Given the description of an element on the screen output the (x, y) to click on. 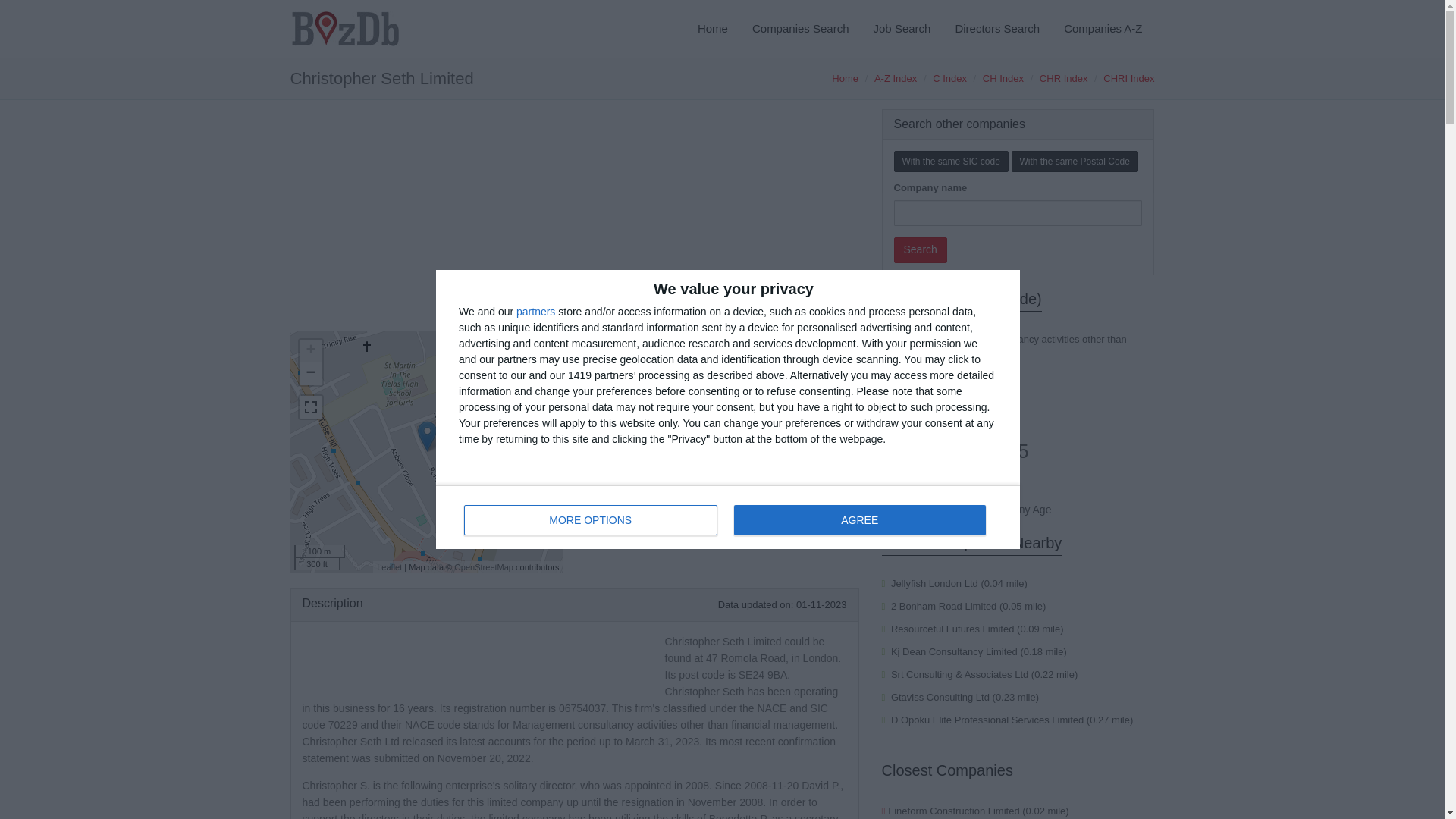
Home (845, 78)
2 Bonham Road Limited (943, 605)
C Index (727, 516)
View Fullscreen (949, 78)
AGREE (309, 406)
Leaflet (859, 520)
Directors Search (389, 566)
C Index (996, 28)
Jellyfish London Ltd (949, 78)
